Given the description of an element on the screen output the (x, y) to click on. 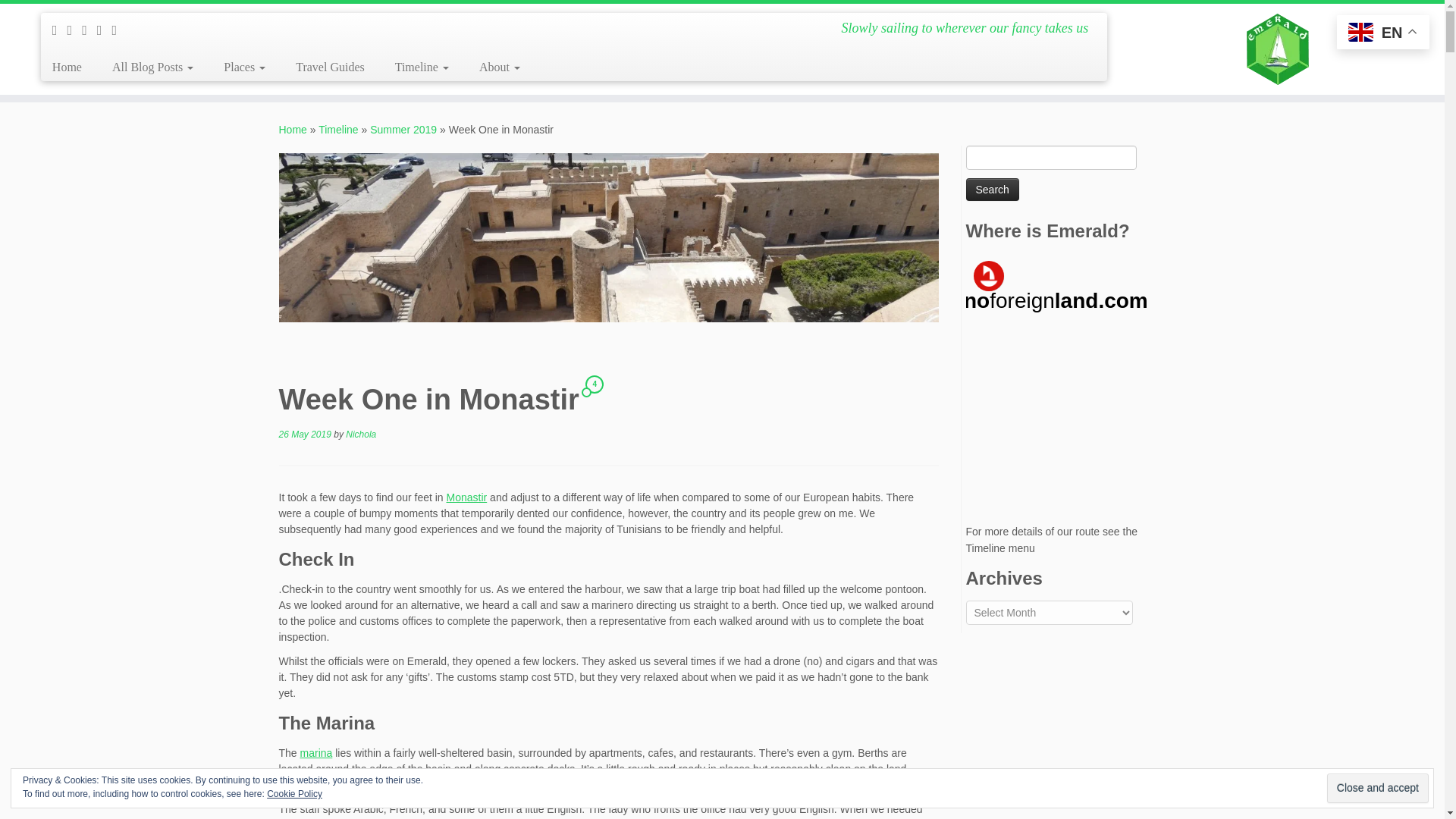
Close and accept (1377, 788)
All Blog Posts (152, 67)
Follow me on Twitter (73, 29)
Follow us on Instagram (104, 29)
More on the Places we Visit (330, 67)
Timeline (422, 67)
Travel Guides (330, 67)
Follow us on Youtube (119, 29)
Subscribe to my rss feed (59, 29)
Follow me on Facebook (89, 29)
Search (992, 189)
All Blog Posts (152, 67)
Home (72, 67)
Blogs by Year (422, 67)
Places (244, 67)
